Given the description of an element on the screen output the (x, y) to click on. 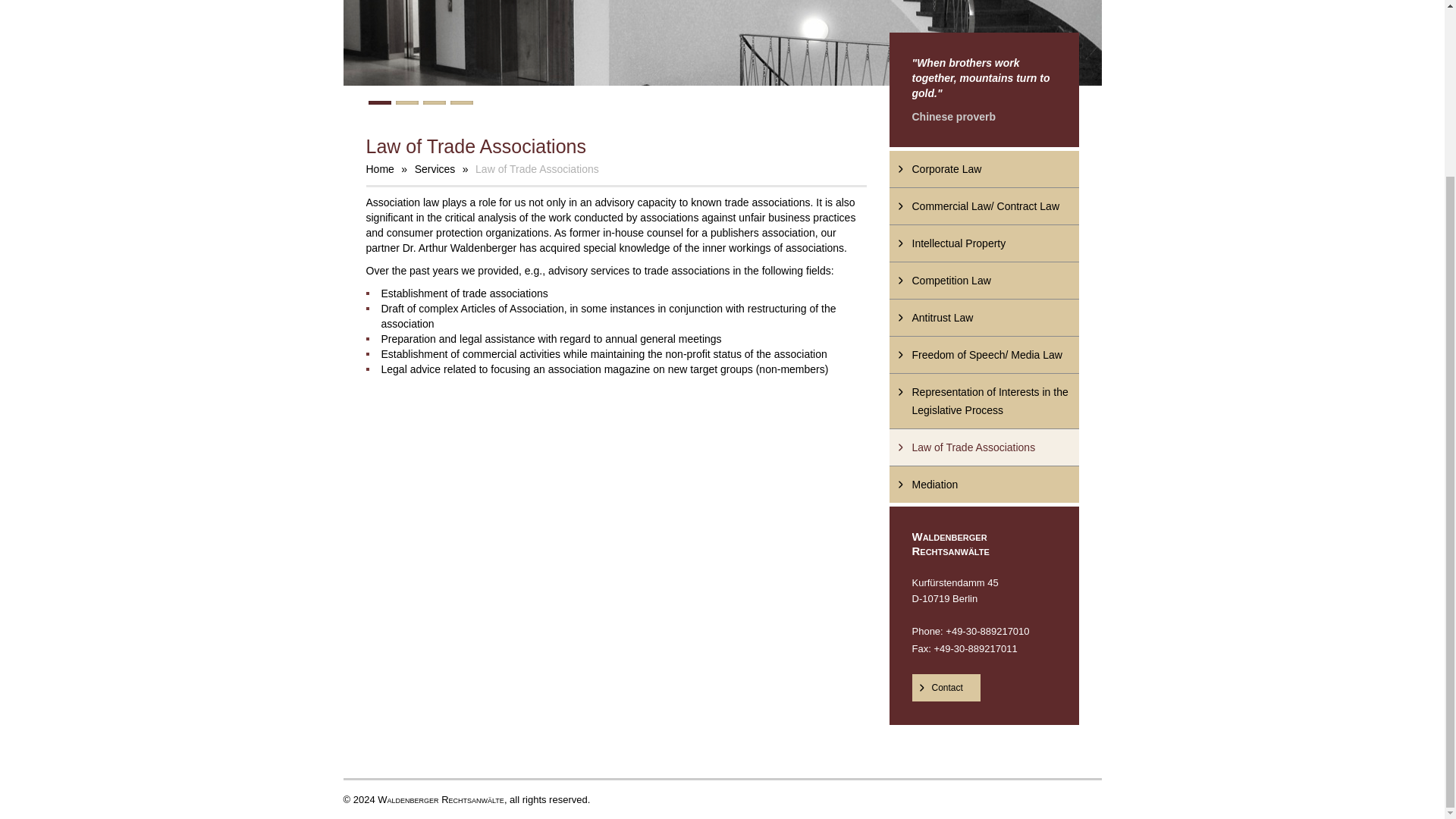
2 (407, 102)
Services (434, 168)
1 (379, 102)
3 (434, 102)
Home (379, 168)
4 (461, 102)
